Given the description of an element on the screen output the (x, y) to click on. 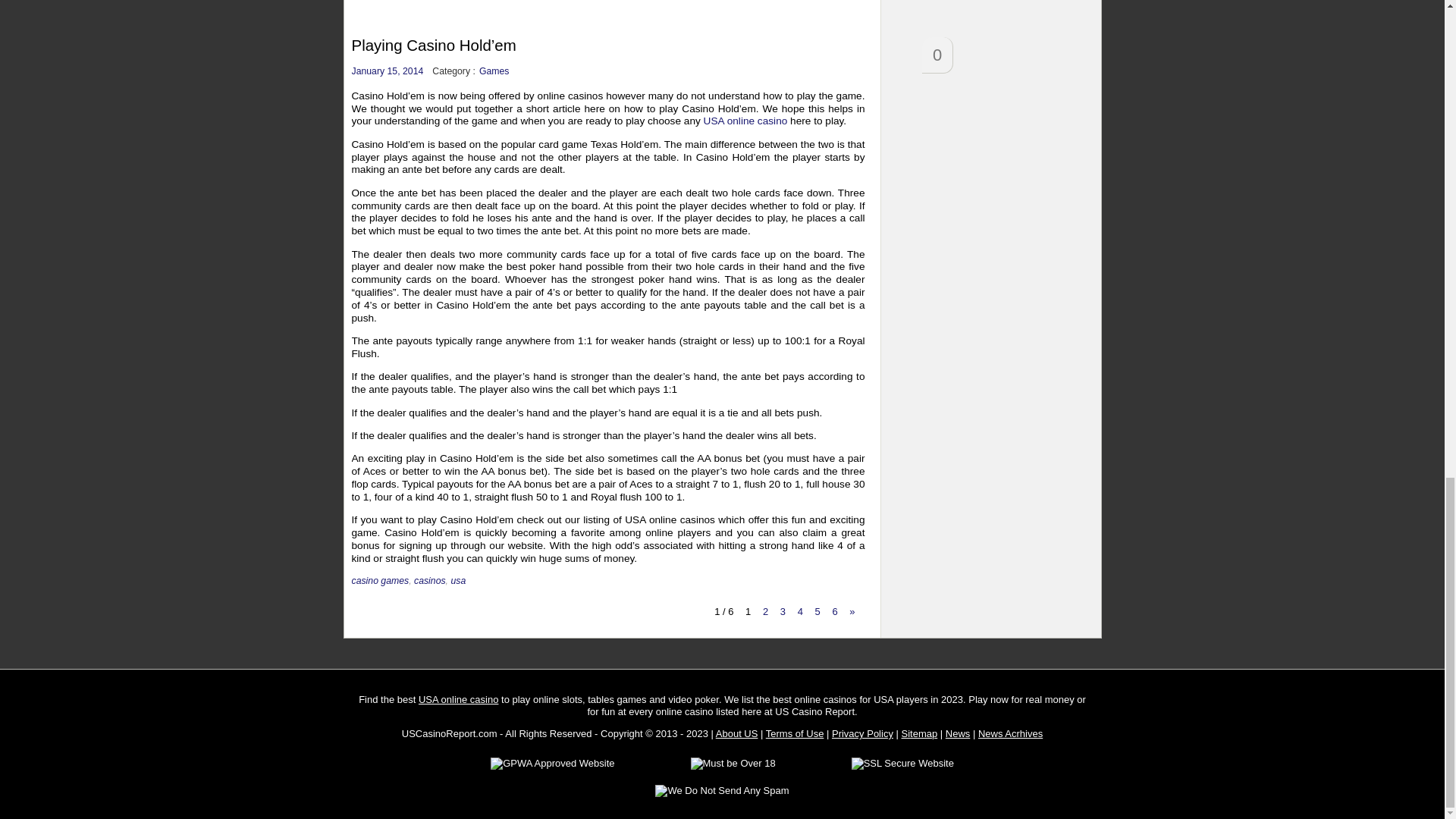
January 15, 2014 (387, 71)
 2  (764, 611)
 5  (817, 611)
Next (852, 611)
Games (494, 70)
 6  (834, 611)
 4  (799, 611)
USA online casino (745, 120)
 3  (782, 611)
casino games (380, 580)
